Given the description of an element on the screen output the (x, y) to click on. 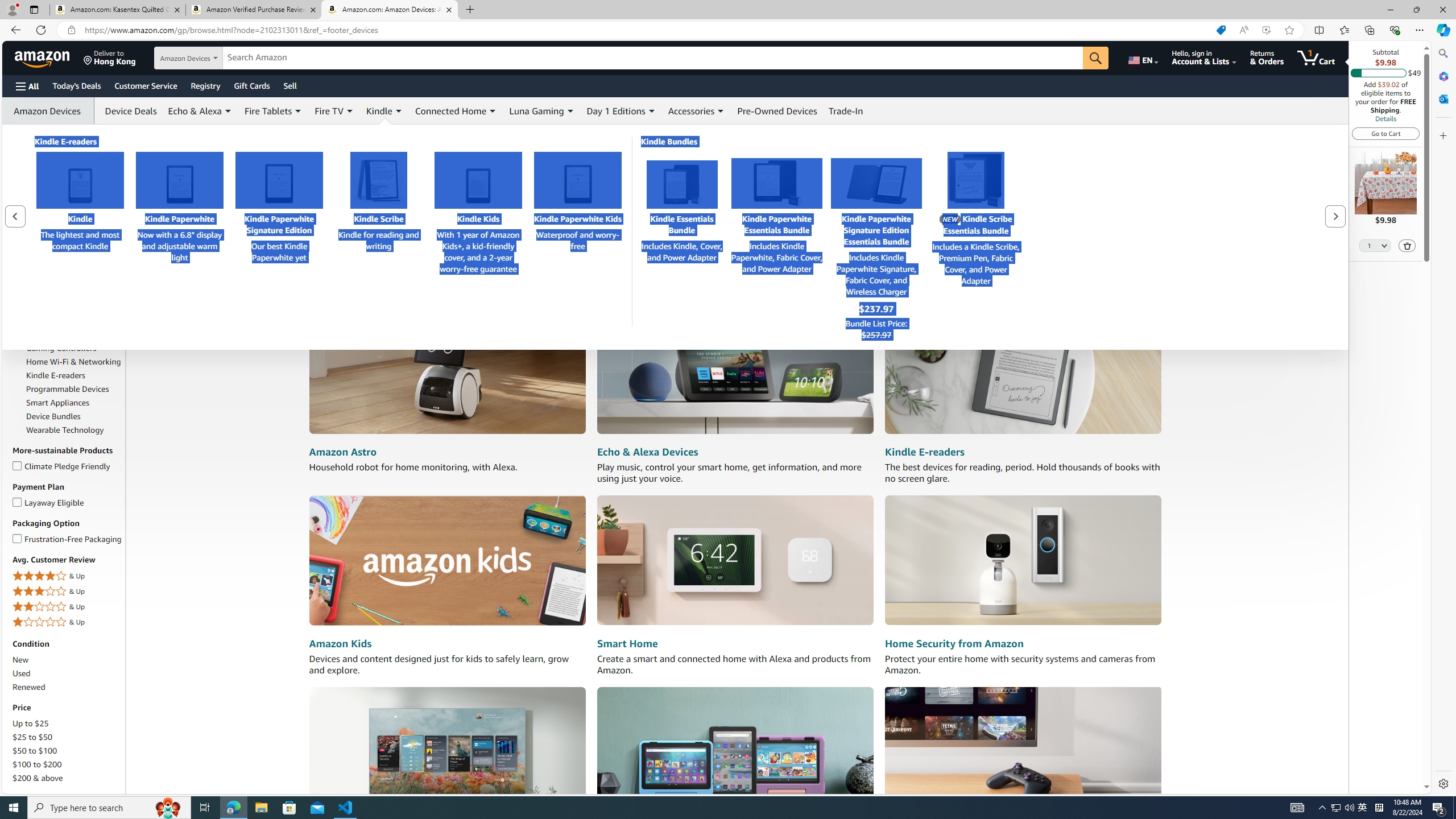
Last 90 days (34, 167)
Amazon Kids (339, 643)
Trade-In (845, 110)
Echo & Alexa Devices (647, 451)
Disable Closed Captions (548, 267)
Device Deals (128, 110)
Registry (205, 85)
Home Wi-Fi & Networking (73, 361)
Fire TV (39, 320)
